Given the description of an element on the screen output the (x, y) to click on. 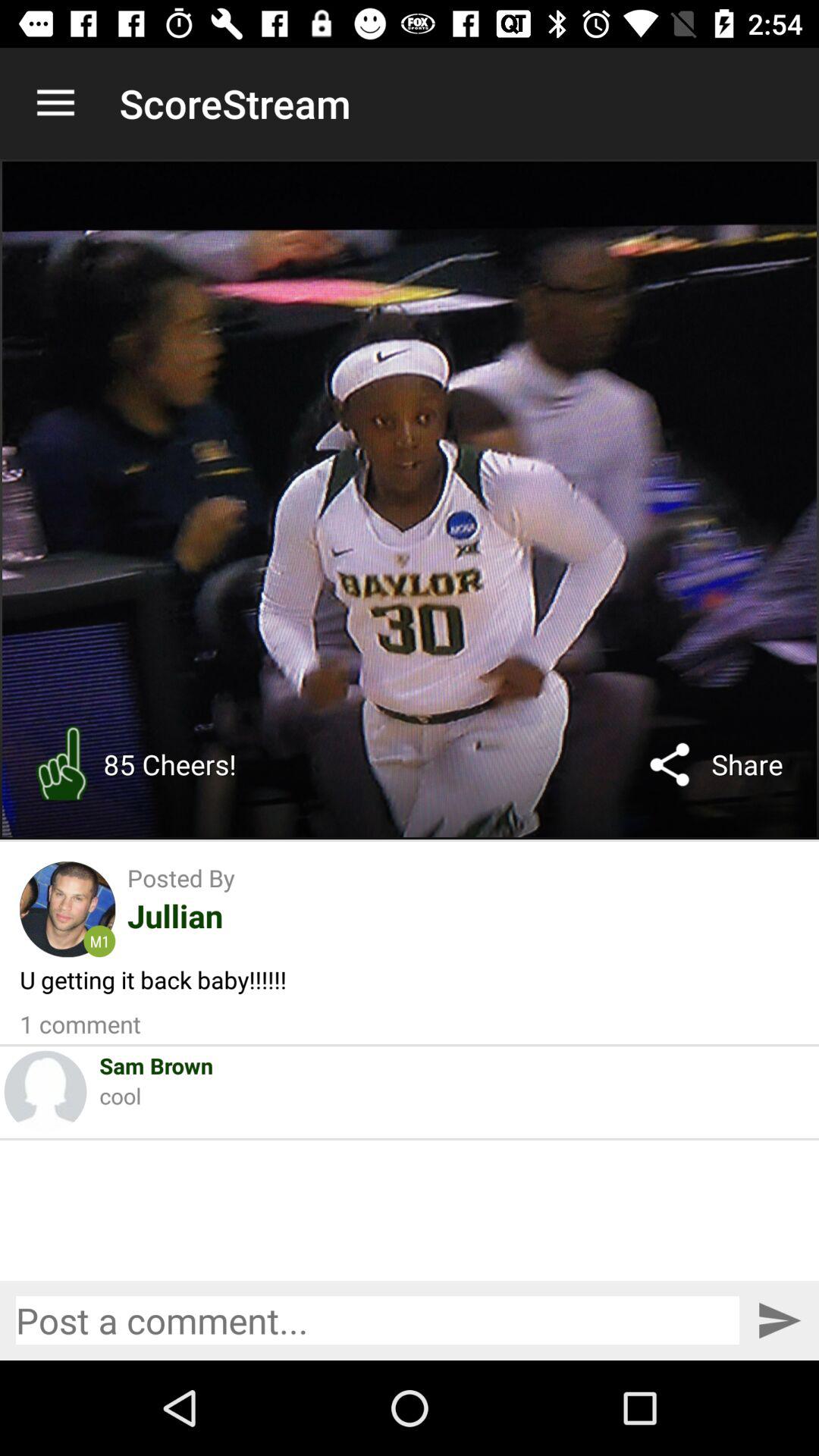
press icon at the bottom right corner (779, 1320)
